Given the description of an element on the screen output the (x, y) to click on. 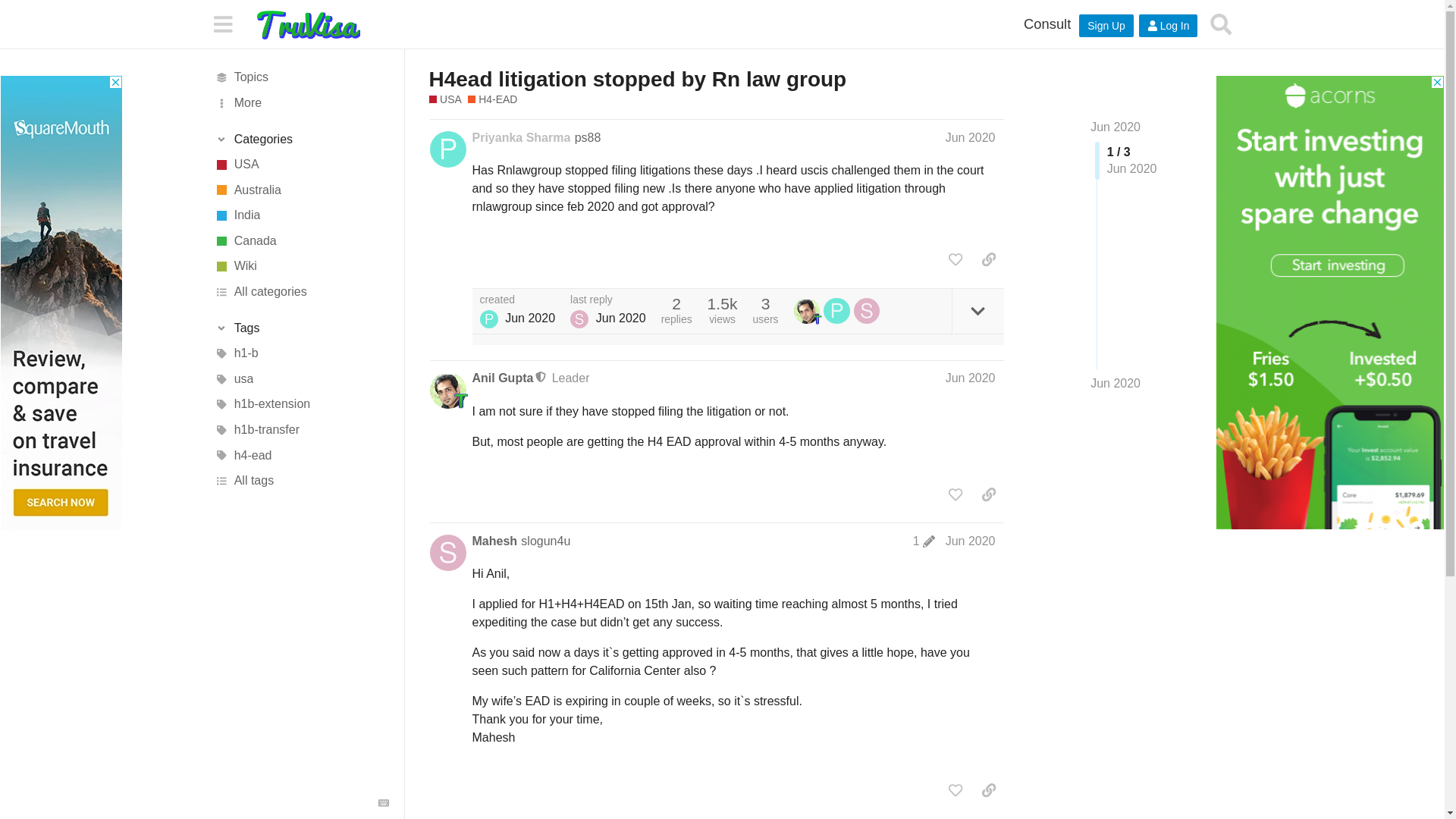
Wiki (301, 266)
Sidebar (222, 23)
Keyboard Shortcuts (384, 802)
All categories (301, 291)
Australia (301, 190)
Tags (301, 328)
Toggle section (301, 328)
H4ead litigation stopped by Rn law group (638, 78)
India (301, 216)
Categories (301, 139)
Jun 2020 (969, 137)
h1-b (301, 353)
